Given the description of an element on the screen output the (x, y) to click on. 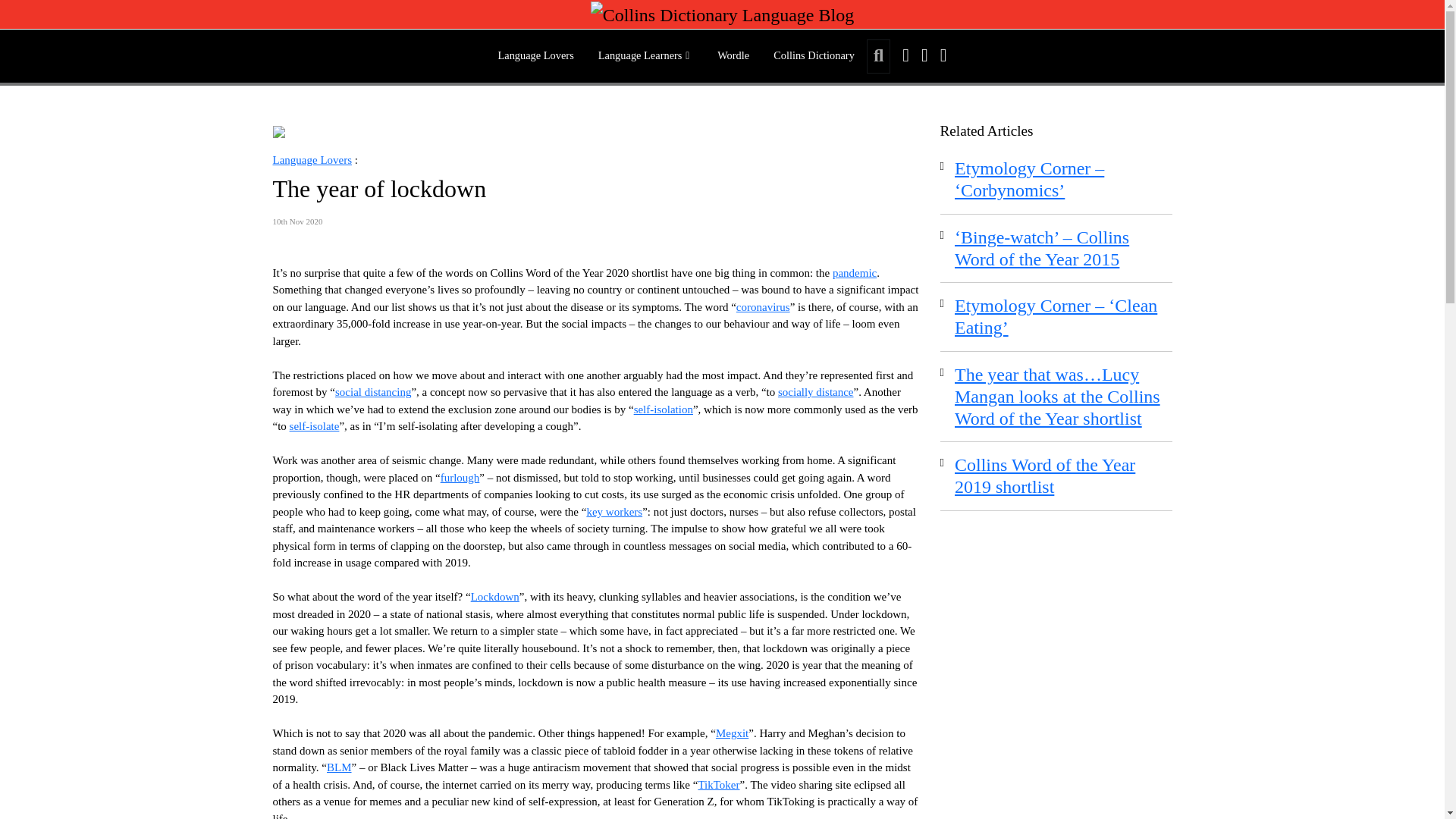
socially distance (815, 391)
pandemic (854, 272)
social distancing (372, 391)
Collins Dictionary (813, 55)
self-isolate (314, 426)
Lockdown (494, 596)
Language Learners (645, 55)
Megxit (732, 733)
Wordle (732, 55)
coronavirus (763, 306)
